Given the description of an element on the screen output the (x, y) to click on. 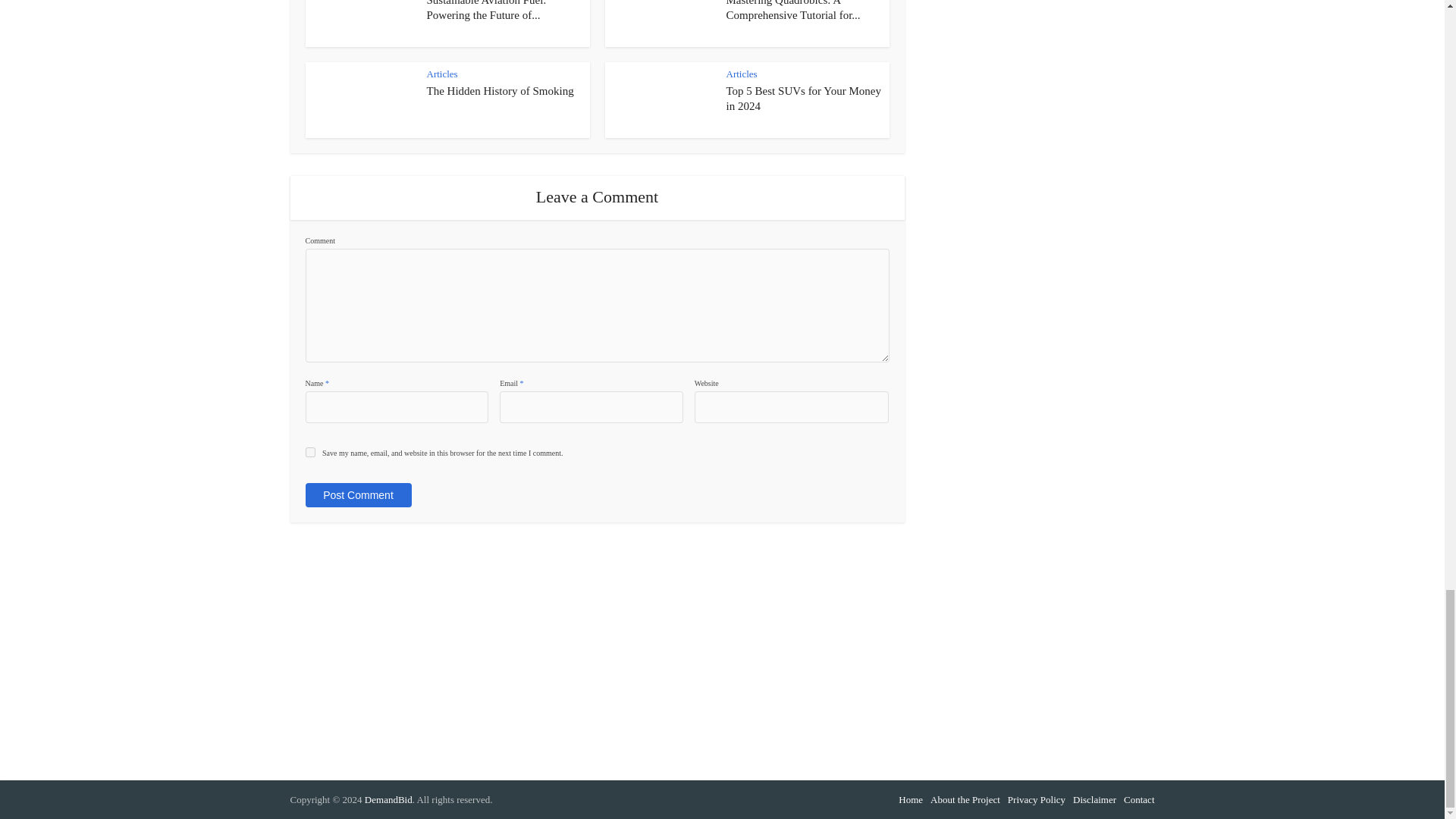
The Hidden History of Smoking (499, 91)
Sustainable Aviation Fuel: Powering the Future of... (486, 10)
Articles (441, 73)
Mastering Quadrobics: A Comprehensive Tutorial for... (793, 10)
yes (309, 452)
Post Comment (357, 494)
Articles (741, 73)
